Given the description of an element on the screen output the (x, y) to click on. 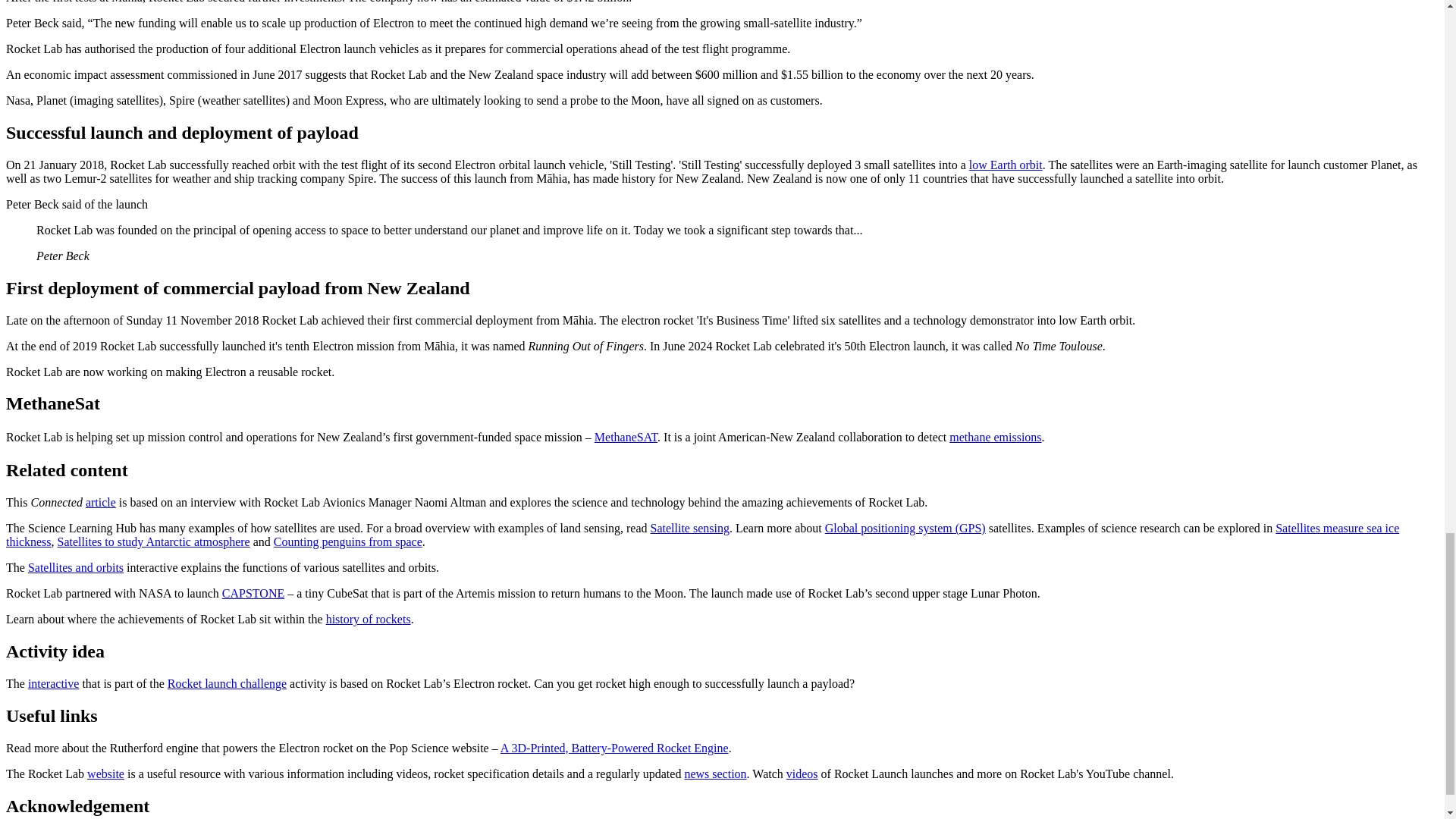
Satellites measure sea ice thickness (702, 534)
article (100, 502)
Satellites to study Antarctic atmosphere (154, 541)
Satellites and orbits (75, 567)
low Earth orbit (1005, 164)
Counting penguins from space (347, 541)
MethaneSAT (626, 436)
Satellite sensing (689, 527)
methane emissions (995, 436)
